Given the description of an element on the screen output the (x, y) to click on. 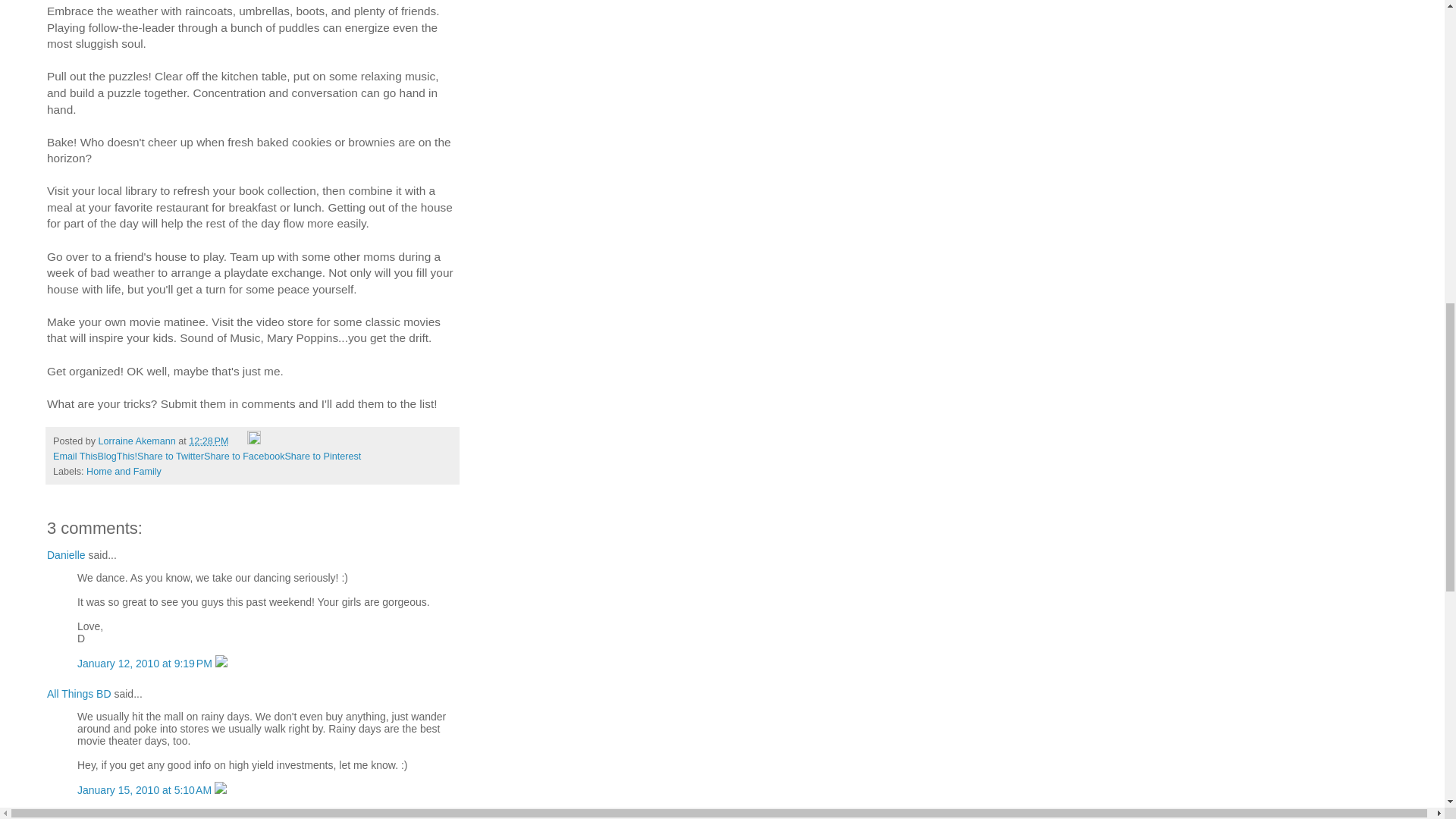
Edit Post (253, 440)
BlogThis! (117, 456)
Share to Twitter (169, 456)
permanent link (208, 440)
Email Post (239, 440)
Email This (74, 456)
Share to Facebook (243, 456)
Share to Twitter (169, 456)
Home and Family (123, 471)
All Things BD (79, 693)
